Given the description of an element on the screen output the (x, y) to click on. 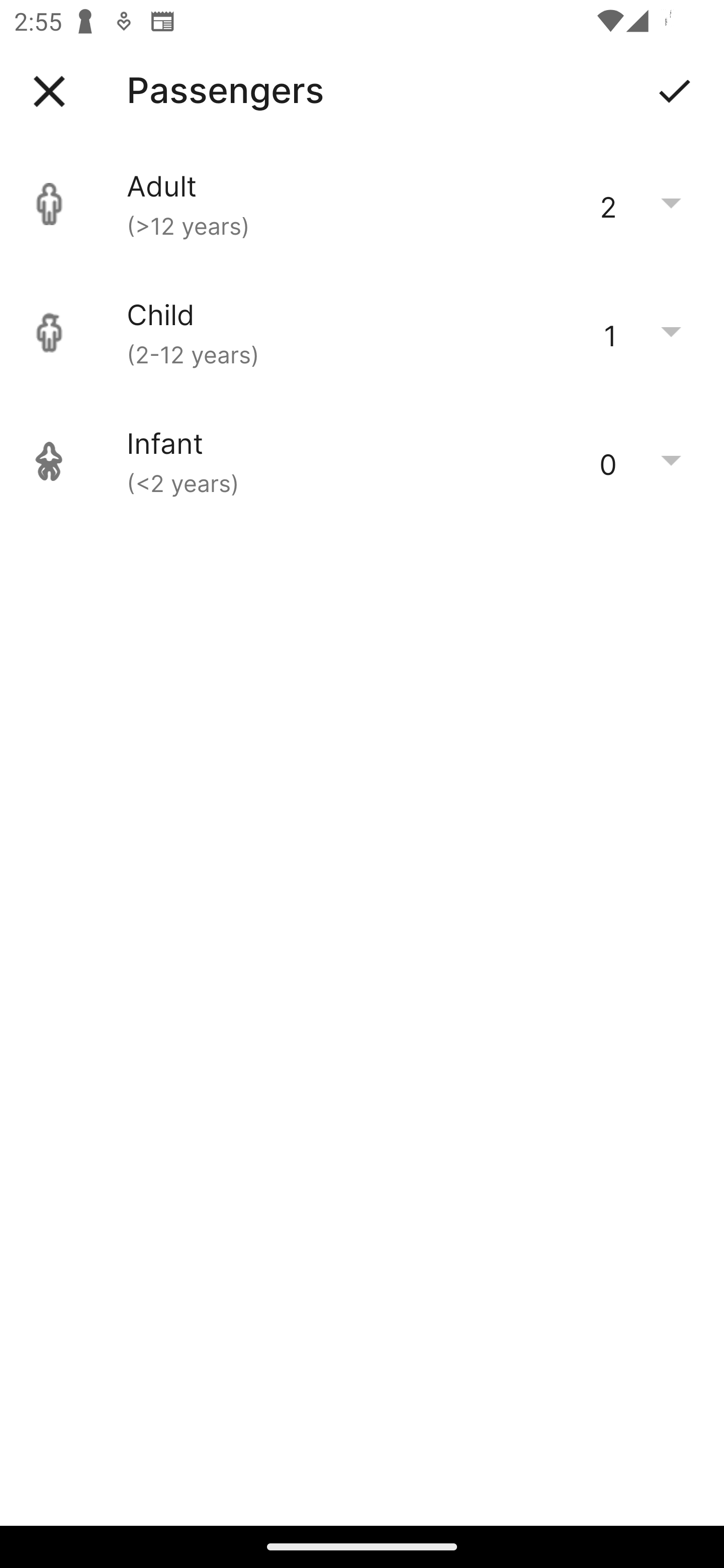
Adult (>12 years) 2 (362, 204)
Child (2-12 years) 1 (362, 332)
Infant (<2 years) 0 (362, 461)
